Given the description of an element on the screen output the (x, y) to click on. 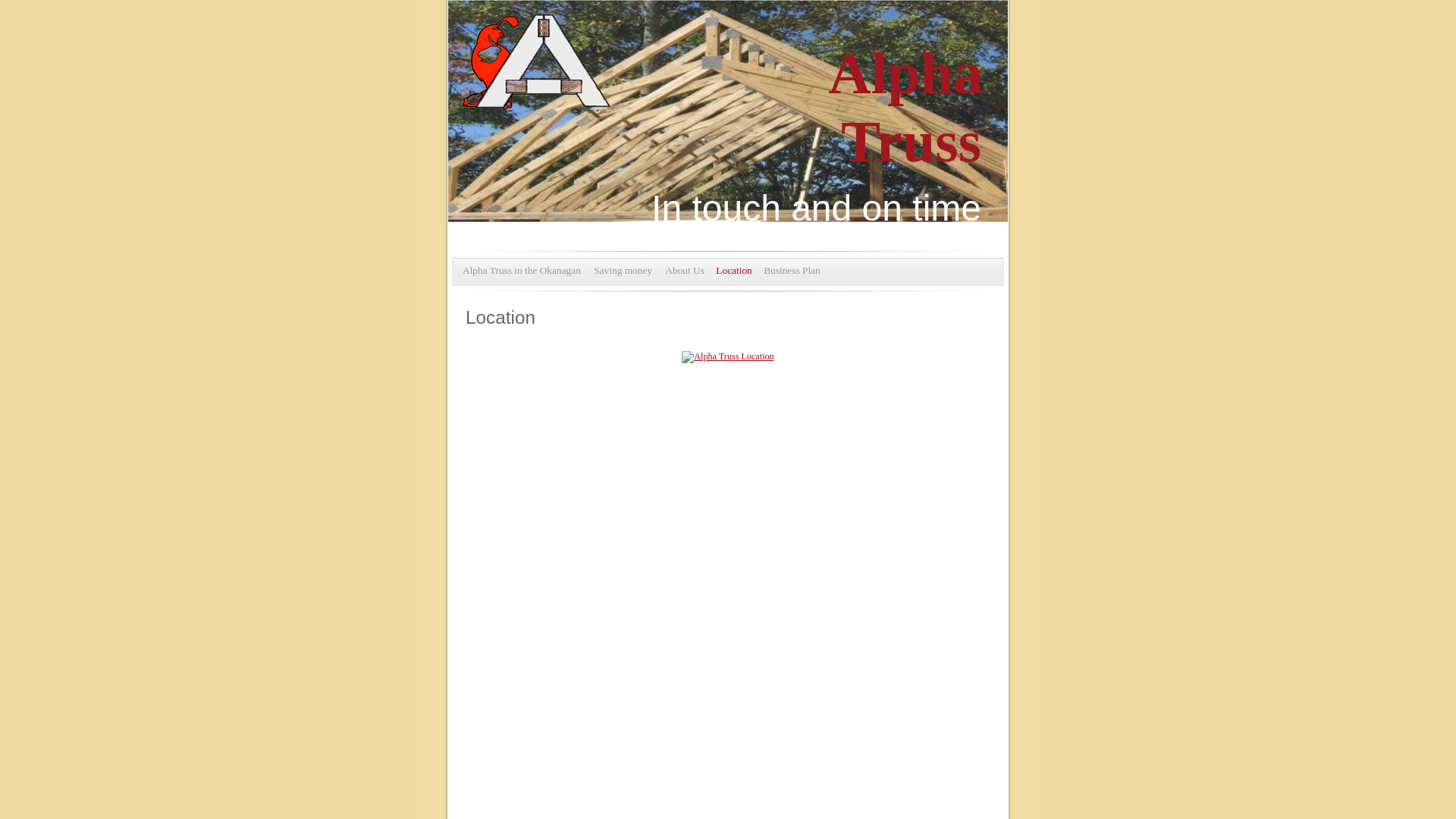
Alpha Truss in the Okanagan Element type: text (521, 270)
About Us Element type: text (684, 270)
Saving money Element type: text (622, 270)
Business Plan Element type: text (792, 270)
Alpha Truss Element type: text (904, 116)
